Given the description of an element on the screen output the (x, y) to click on. 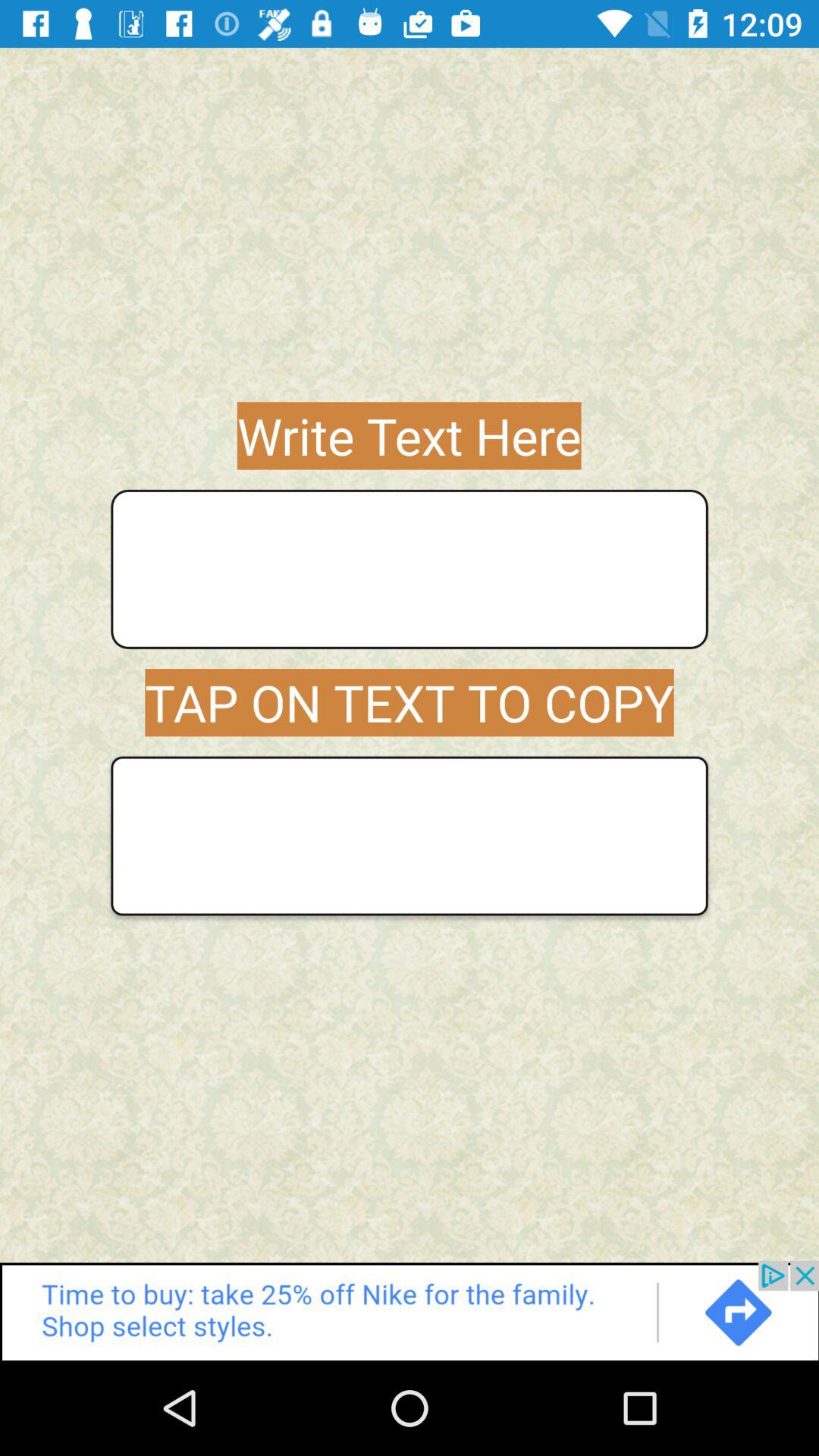
click advertisement to open (409, 1310)
